Given the description of an element on the screen output the (x, y) to click on. 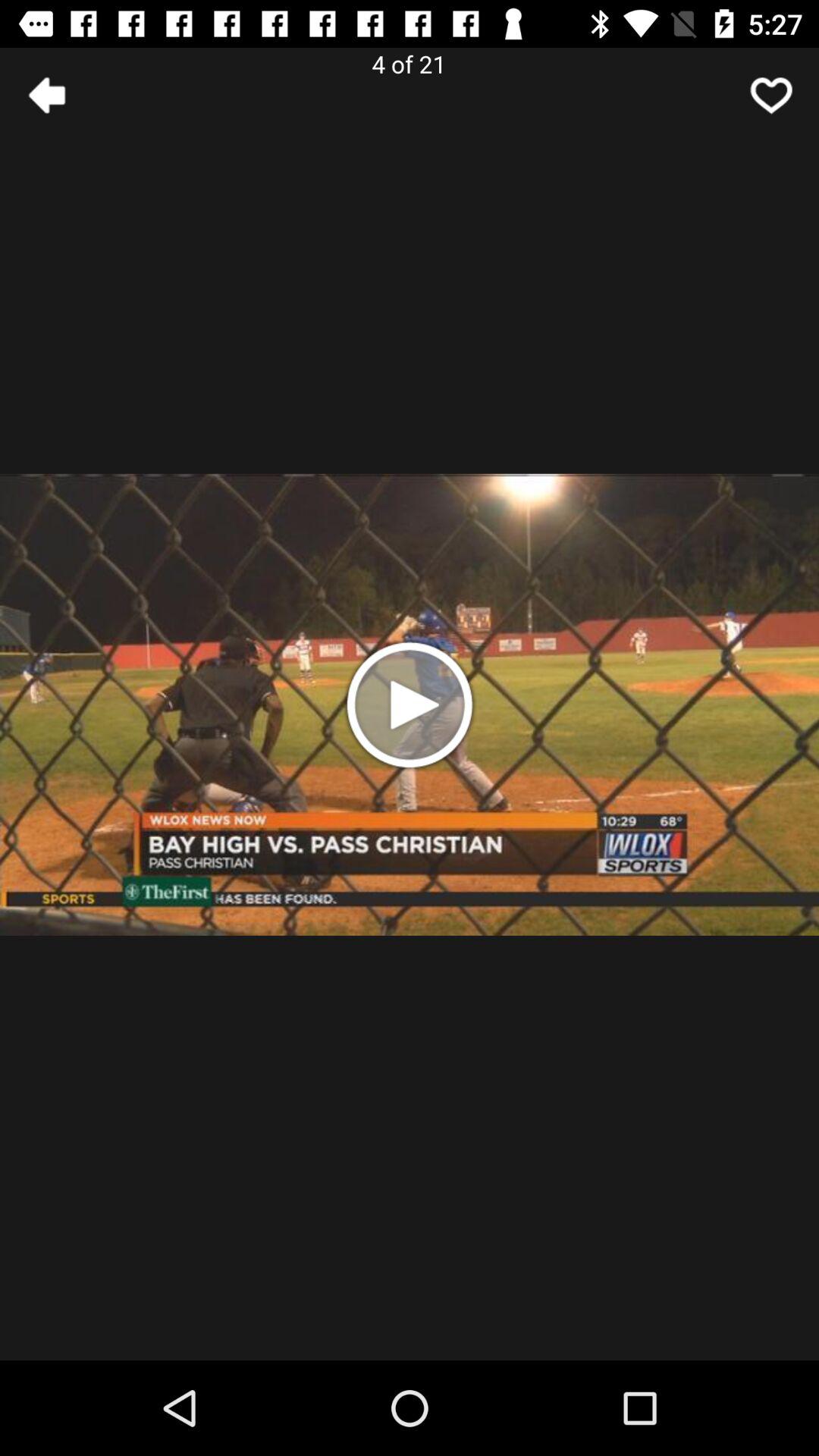
love (771, 95)
